Given the description of an element on the screen output the (x, y) to click on. 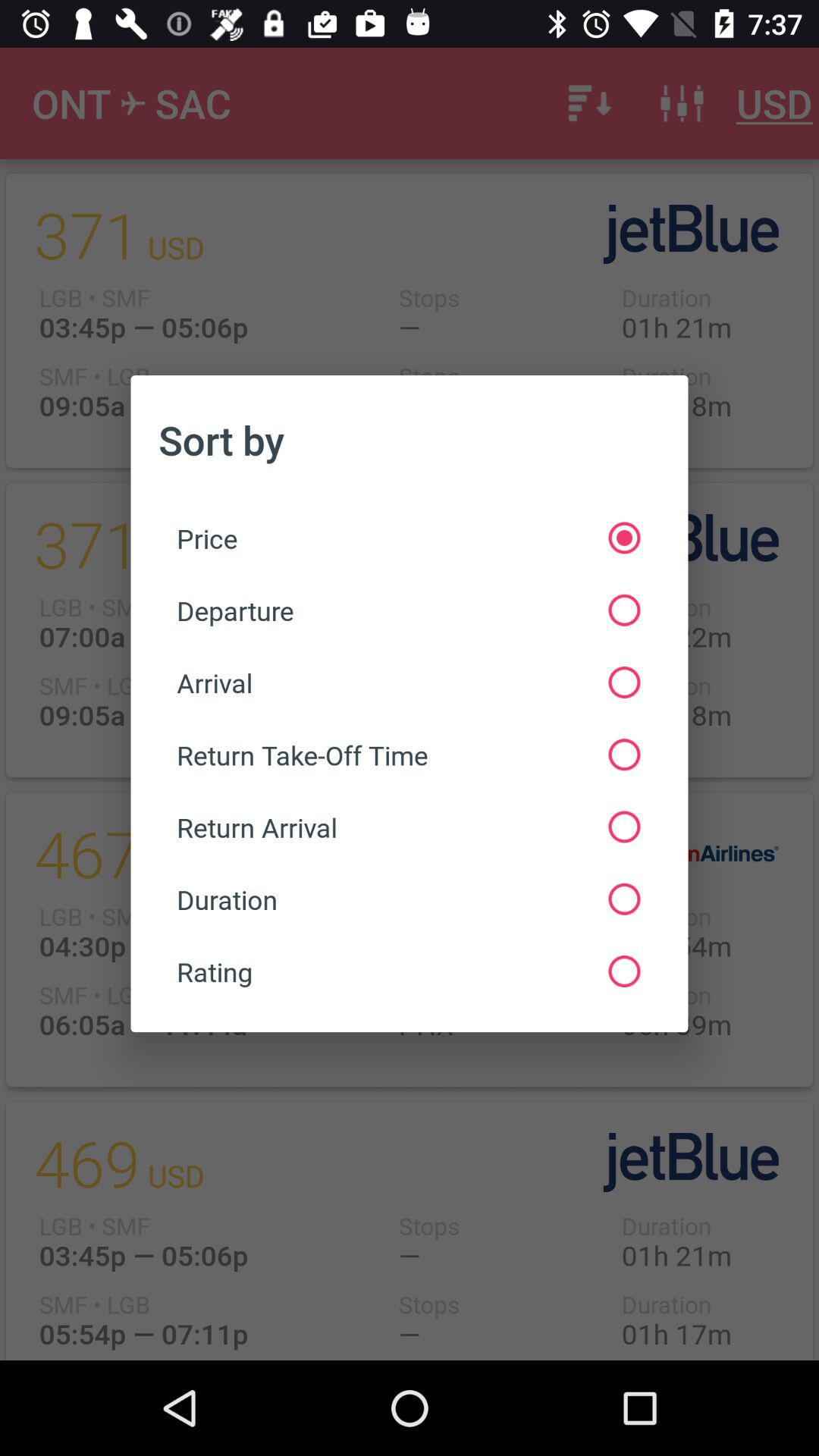
select the item above duration (408, 827)
